Given the description of an element on the screen output the (x, y) to click on. 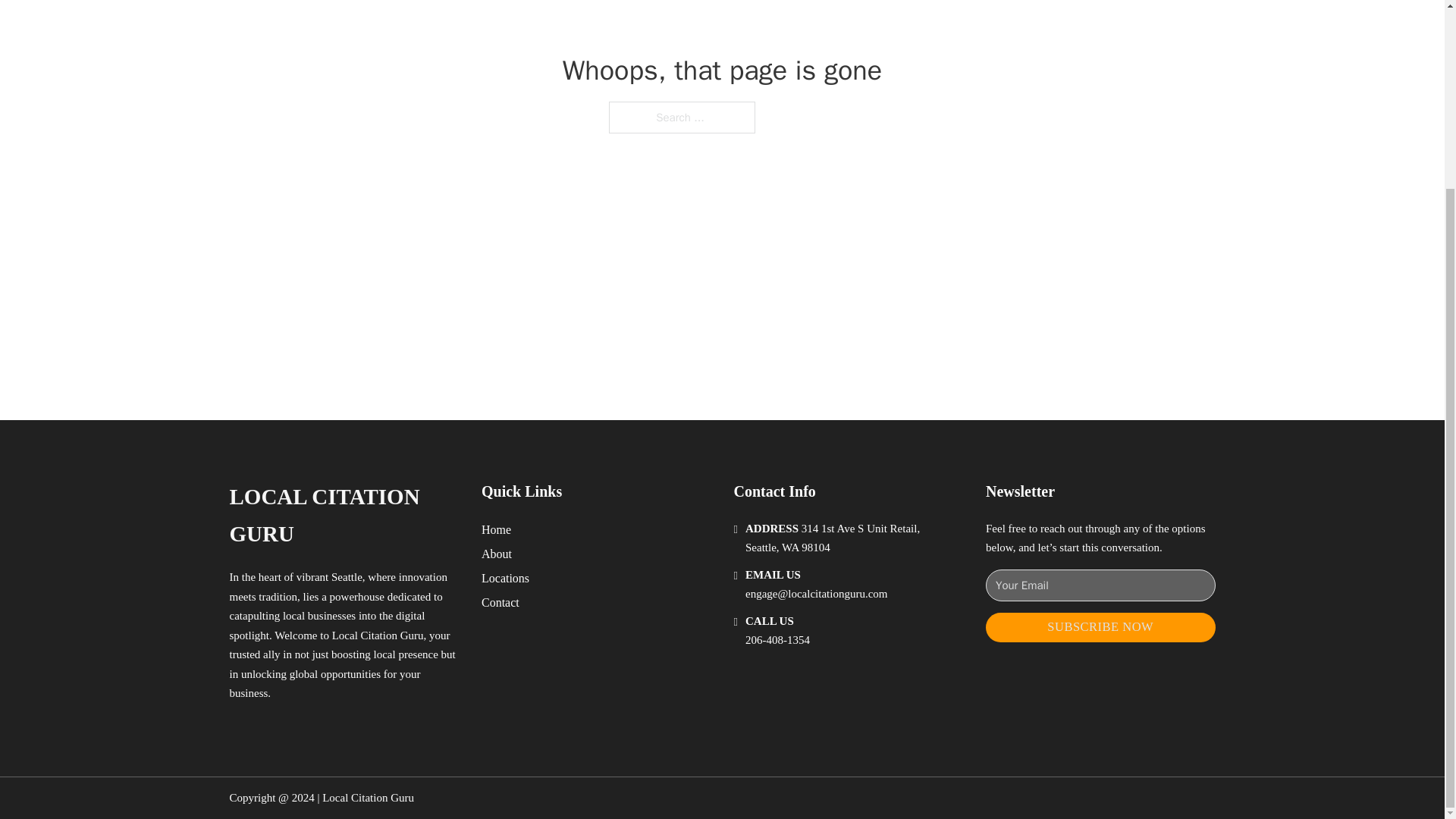
About (496, 553)
SUBSCRIBE NOW (1100, 627)
Home (496, 529)
Contact (500, 602)
Locations (505, 578)
LOCAL CITATION GURU (343, 515)
206-408-1354 (777, 639)
